Given the description of an element on the screen output the (x, y) to click on. 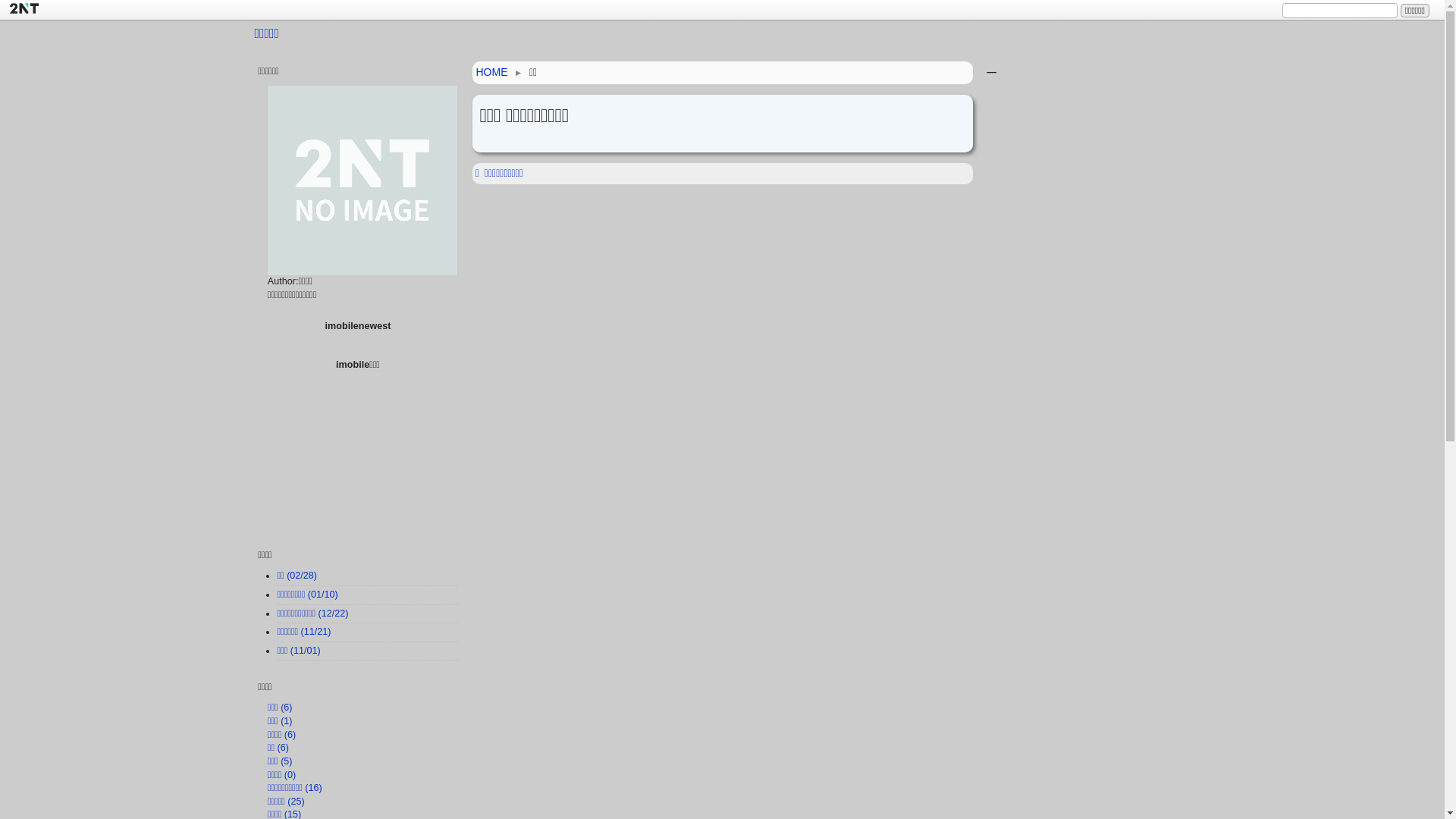
HOME Element type: text (492, 71)
